Given the description of an element on the screen output the (x, y) to click on. 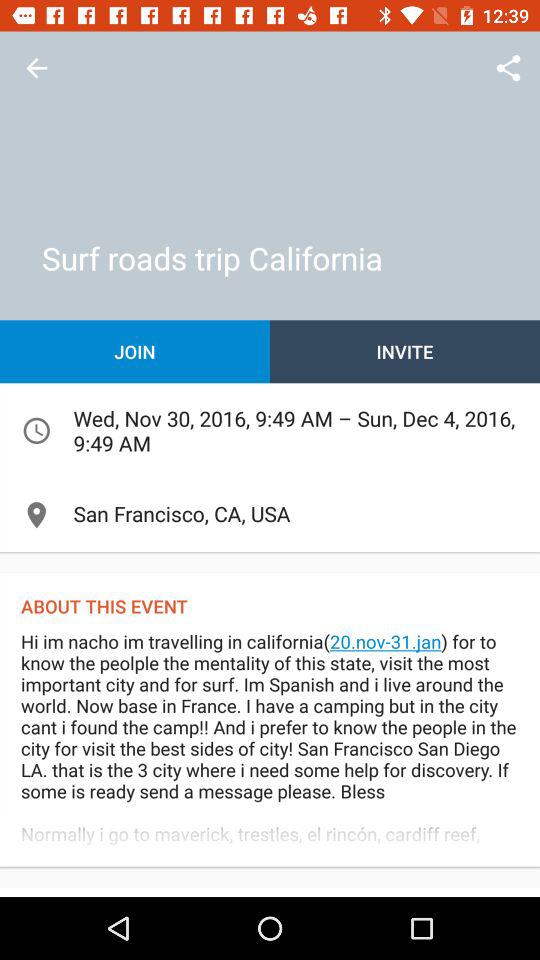
open the item above the wed nov 30 item (405, 351)
